Given the description of an element on the screen output the (x, y) to click on. 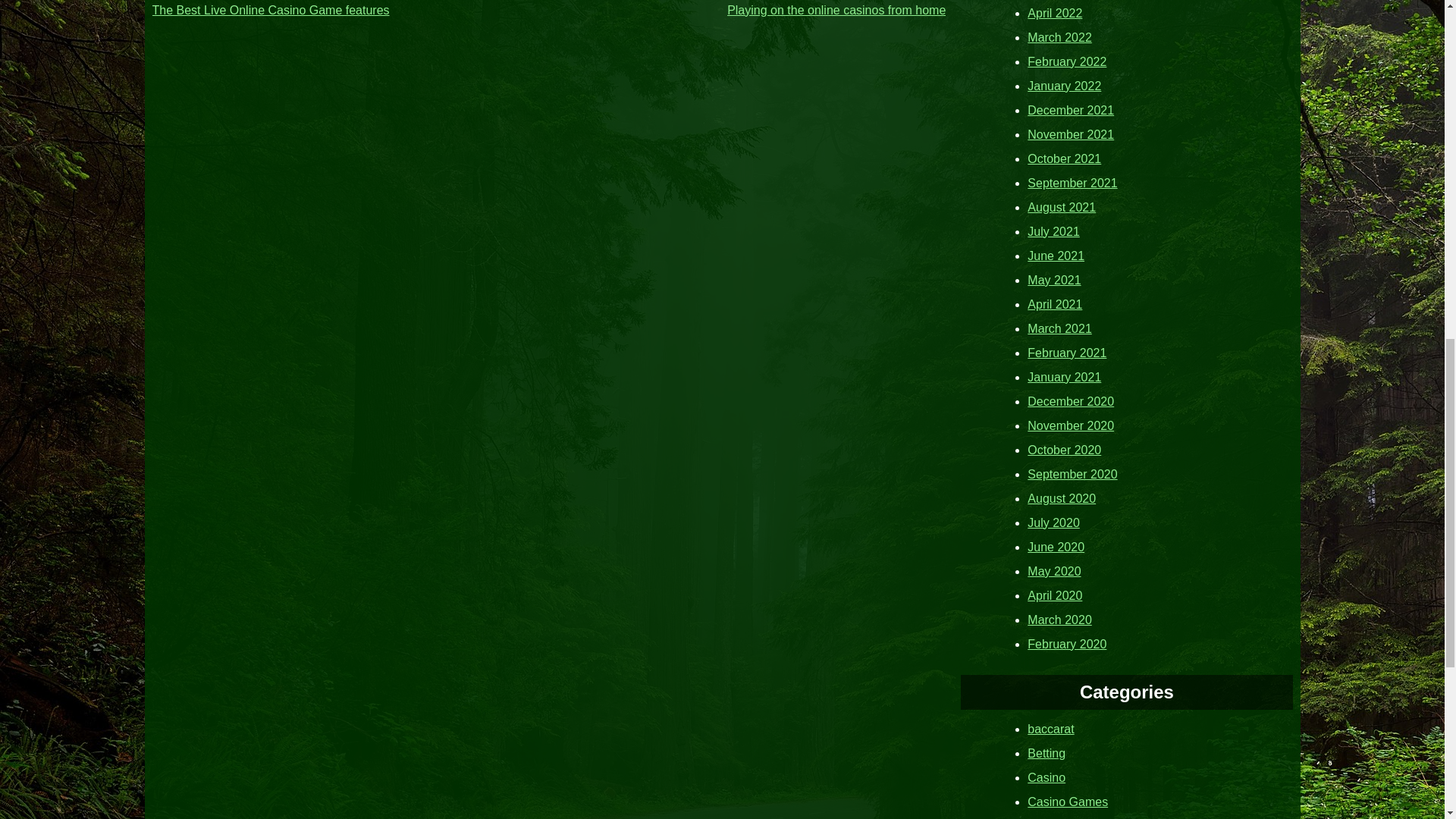
September 2021 (1071, 182)
February 2022 (1066, 60)
May 2021 (1053, 278)
January 2022 (1063, 84)
April 2021 (1054, 303)
April 2022 (1054, 11)
February 2021 (1066, 351)
July 2021 (1053, 230)
June 2021 (1055, 254)
October 2021 (1063, 157)
Playing on the online casinos from home (835, 9)
August 2021 (1061, 205)
December 2021 (1070, 109)
November 2021 (1070, 133)
March 2022 (1059, 36)
